Given the description of an element on the screen output the (x, y) to click on. 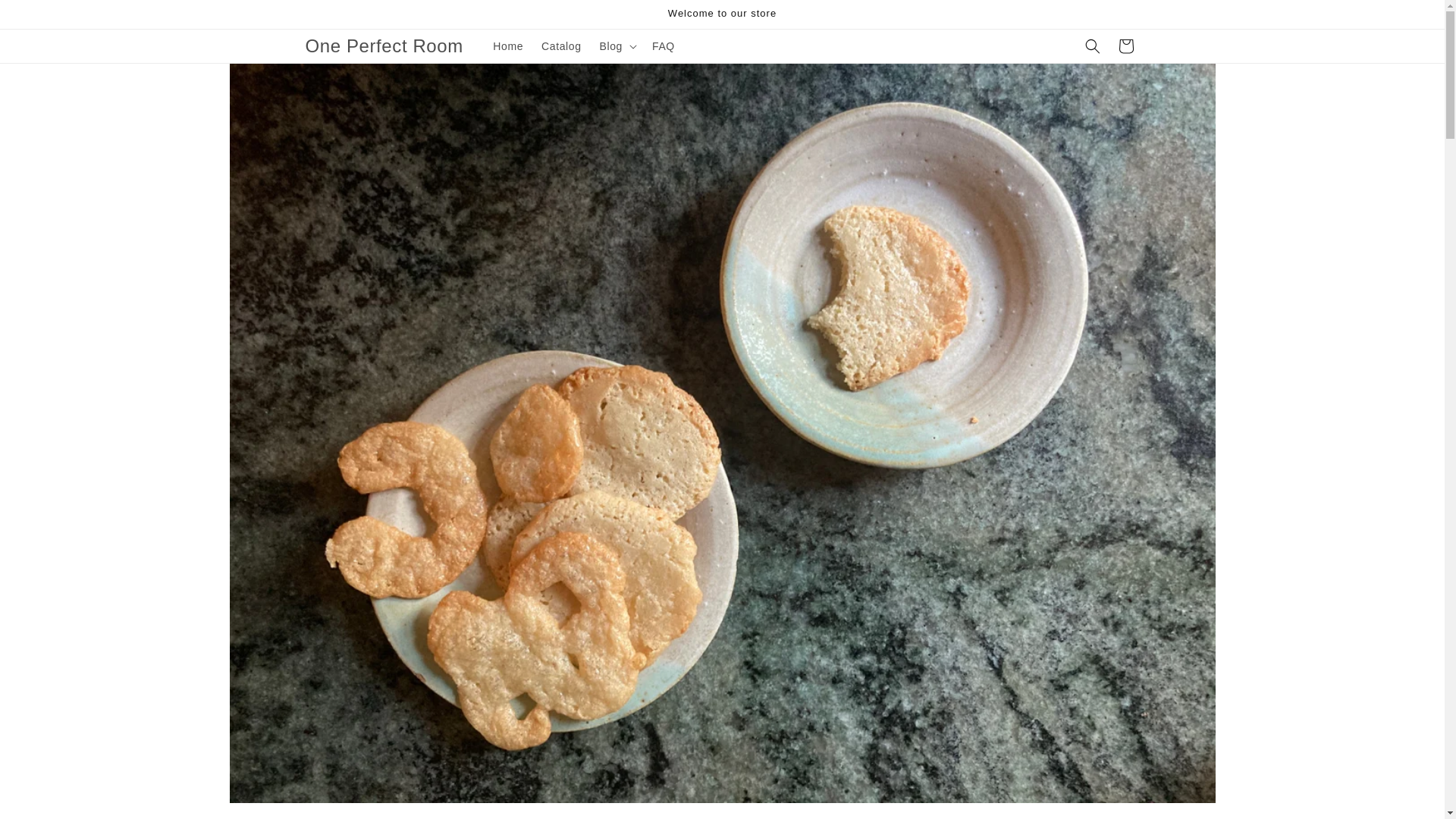
Skip to content (45, 17)
Home (507, 46)
FAQ (663, 46)
Cart (1124, 46)
Catalog (560, 46)
One Perfect Room (383, 46)
